Given the description of an element on the screen output the (x, y) to click on. 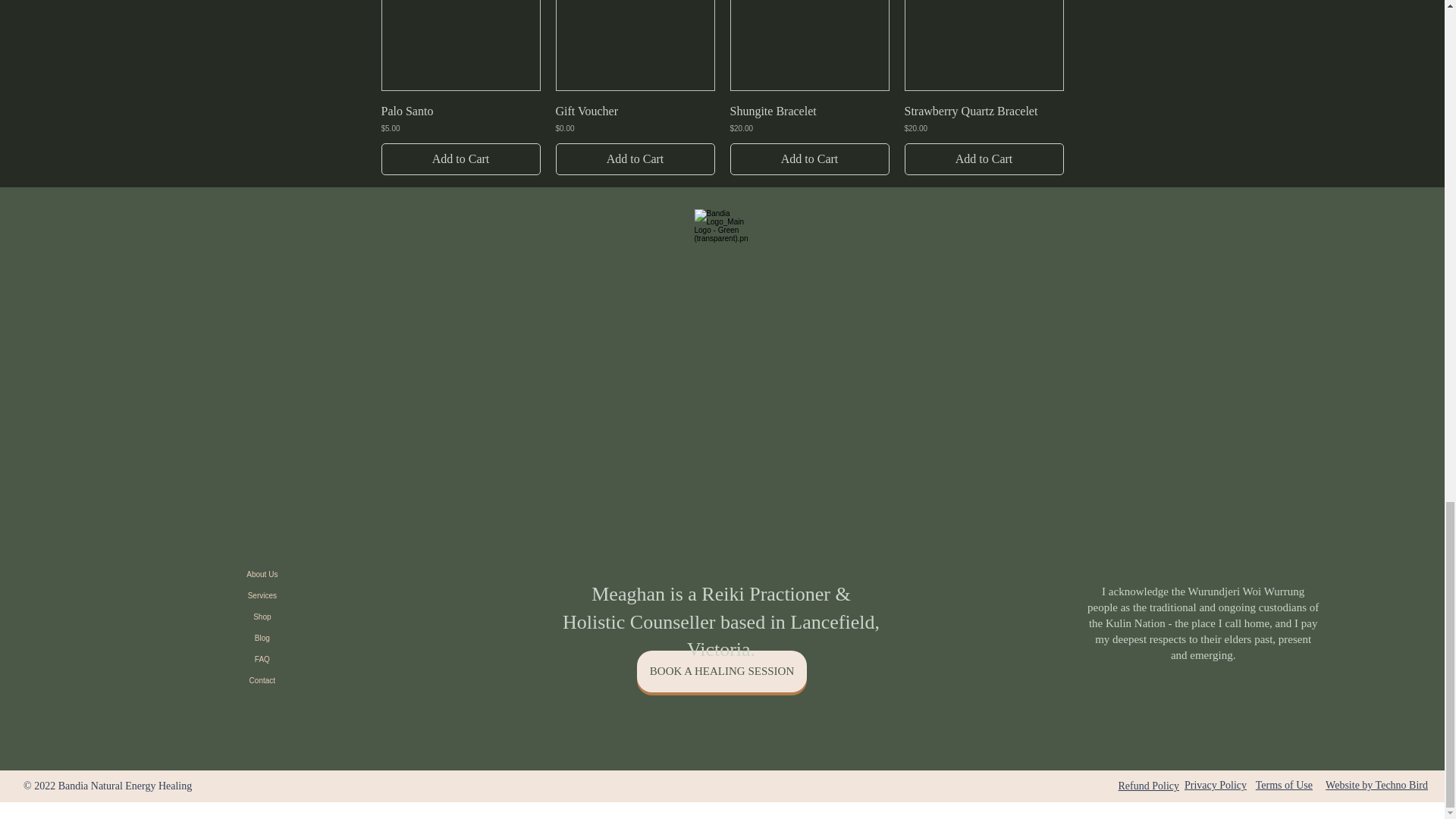
Add to Cart (808, 159)
Add to Cart (460, 159)
Add to Cart (634, 159)
